Given the description of an element on the screen output the (x, y) to click on. 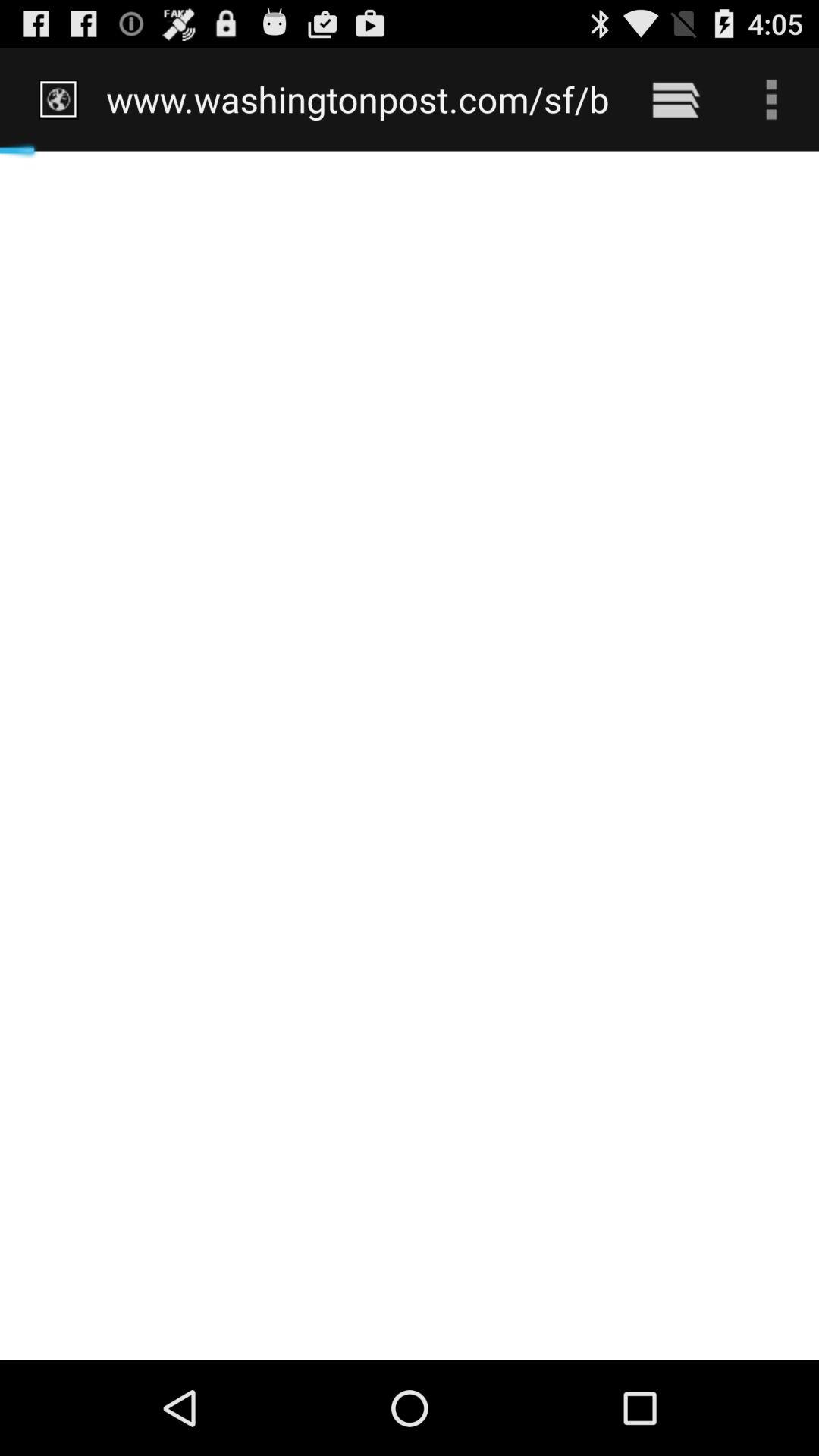
turn on icon next to the www washingtonpost com icon (675, 99)
